Given the description of an element on the screen output the (x, y) to click on. 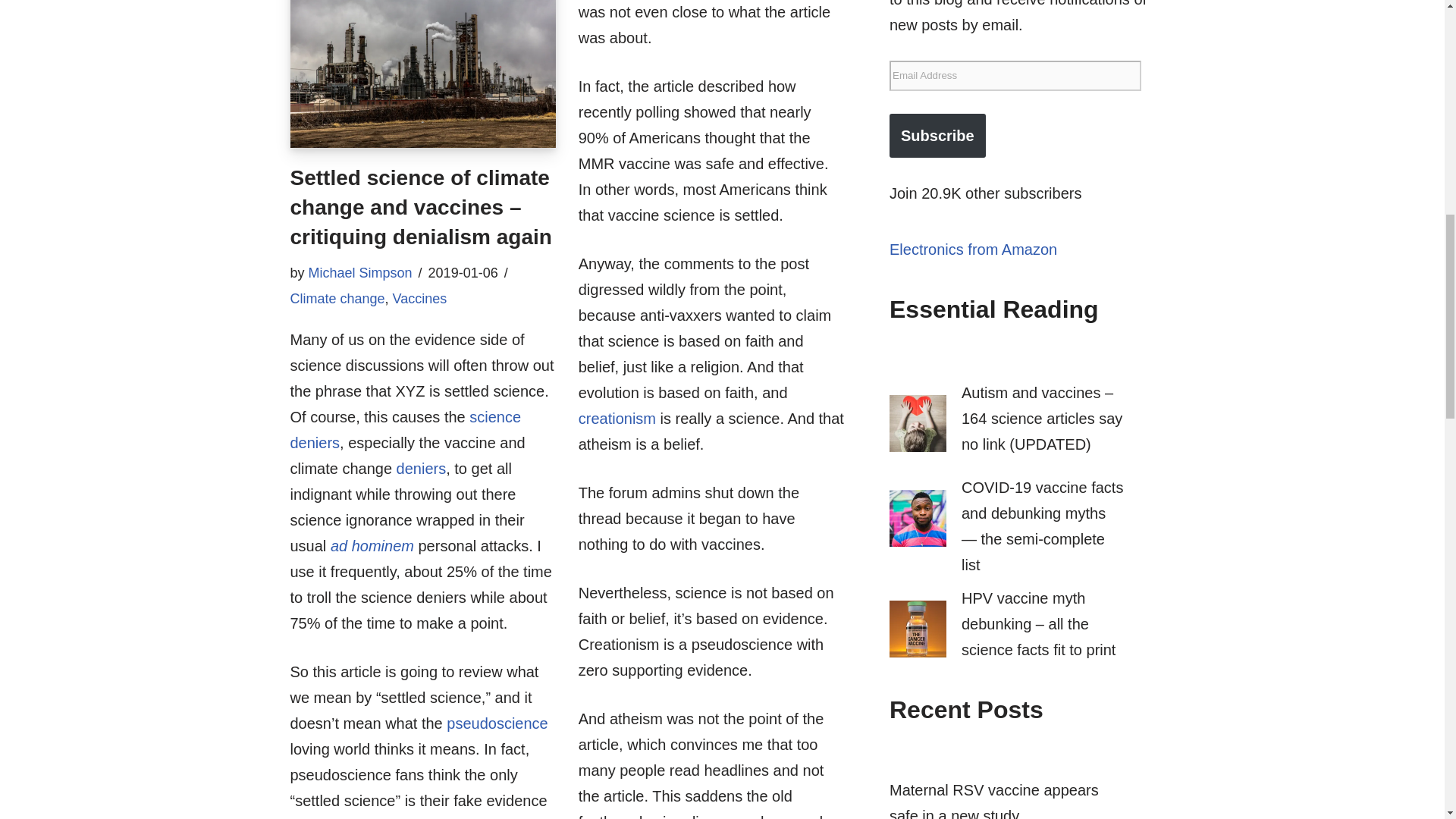
Posts by Michael Simpson (360, 272)
